Given the description of an element on the screen output the (x, y) to click on. 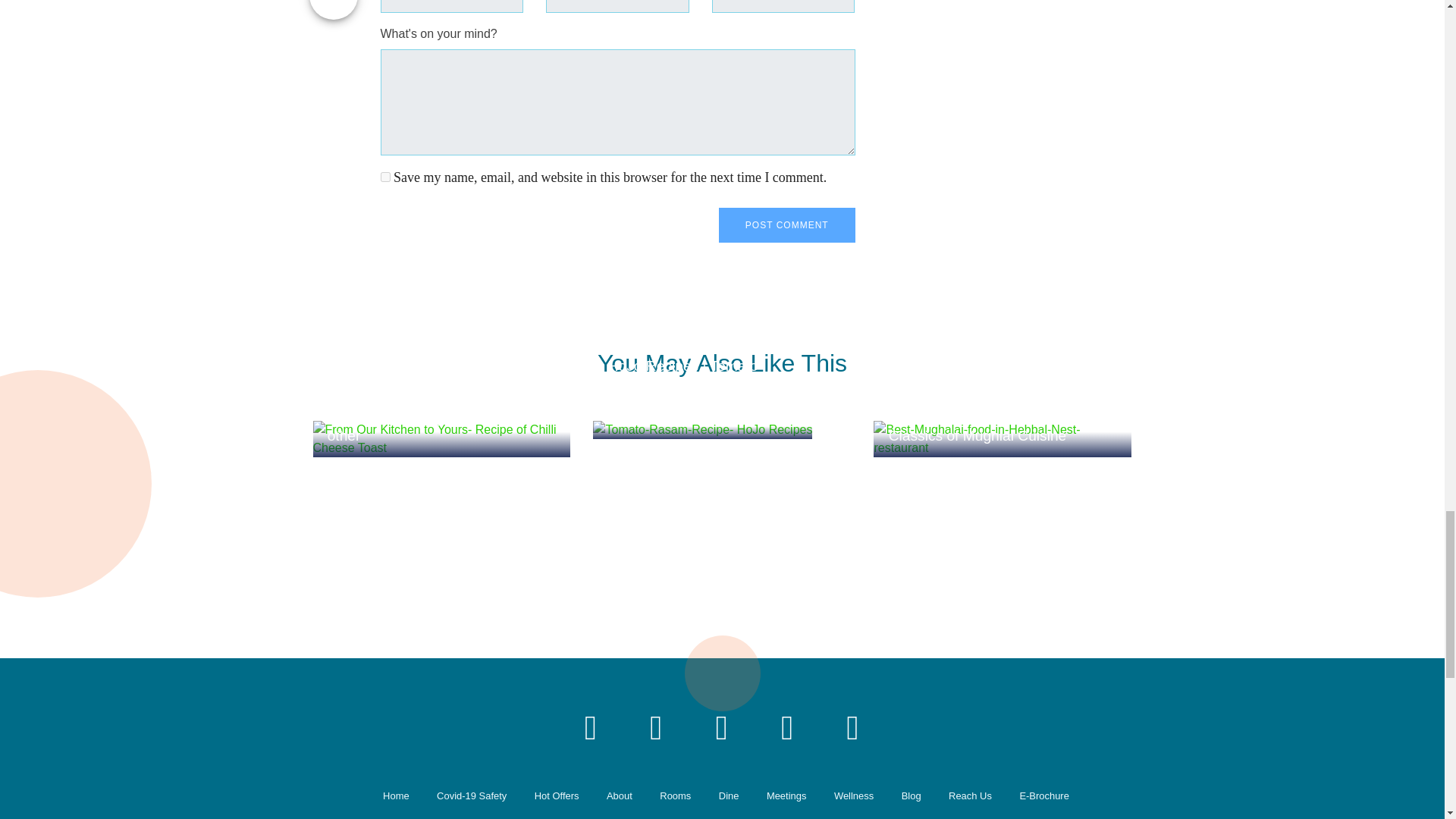
yes (385, 176)
Post Comment (787, 225)
An Era that has Gone By: The Classics of Mughlai Cuisine (1002, 438)
